Given the description of an element on the screen output the (x, y) to click on. 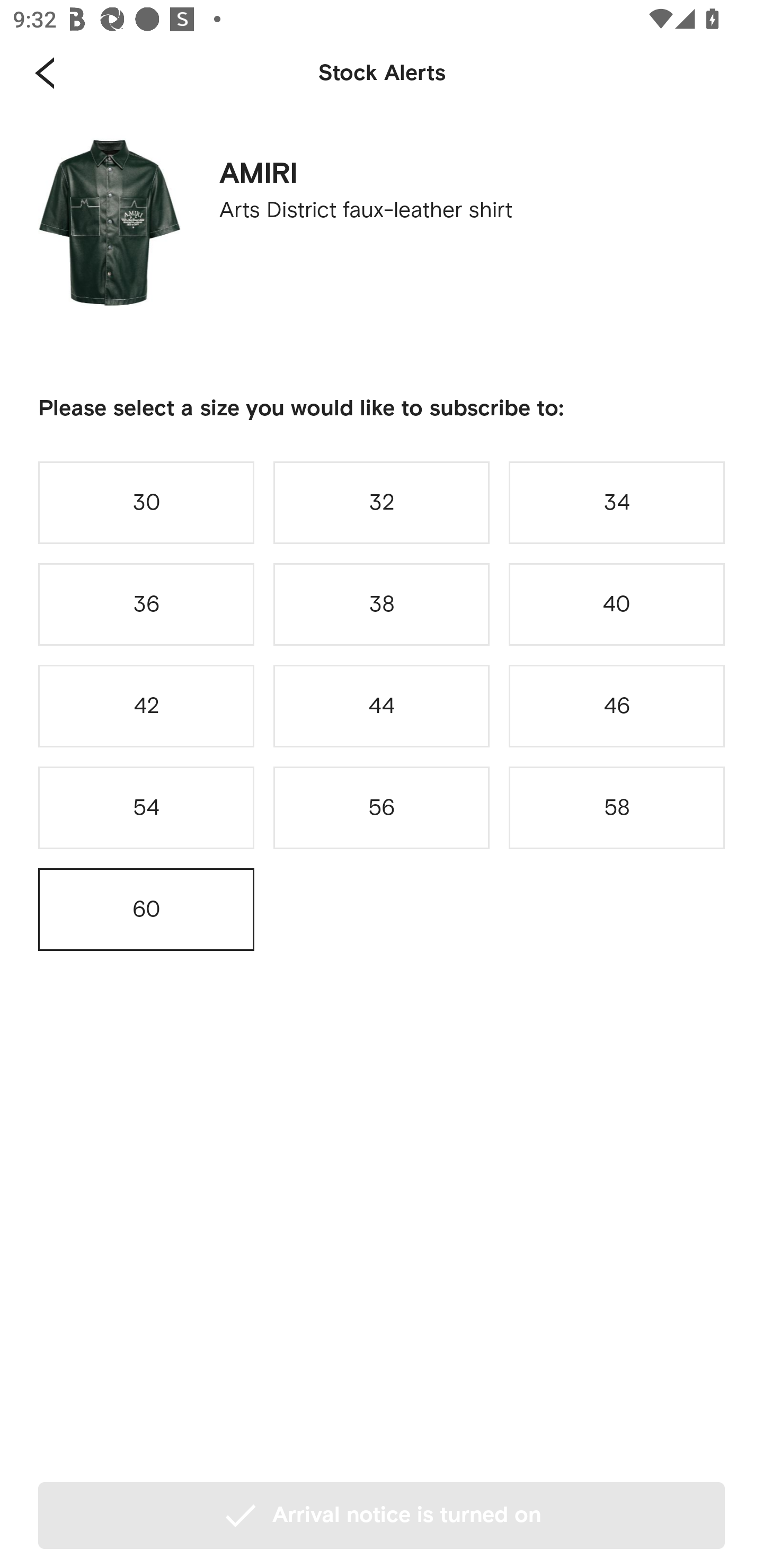
30 (146, 502)
32 (381, 502)
34 (616, 502)
36 (146, 604)
38 (381, 604)
40 (616, 604)
42 (146, 705)
44 (381, 705)
46 (616, 705)
54 (146, 807)
56 (381, 807)
58 (616, 807)
60 (146, 909)
Arrival notice is turned on (381, 1515)
